Given the description of an element on the screen output the (x, y) to click on. 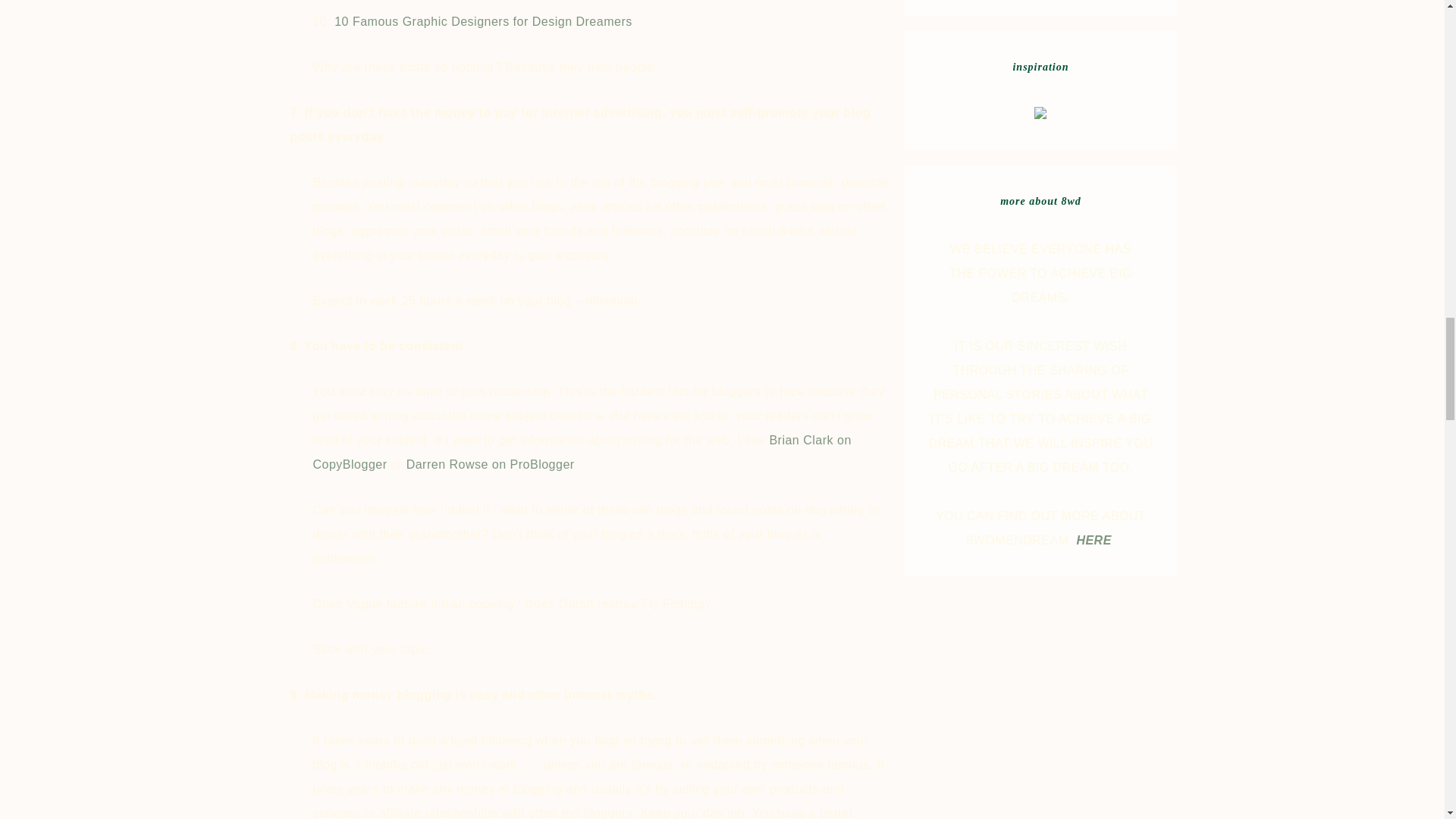
Darren Rowse on ProBlogger (489, 463)
Brian Clark on CopyBlogger (581, 452)
10 Famous Graphic Designers for Design Dreamers (482, 21)
